Given the description of an element on the screen output the (x, y) to click on. 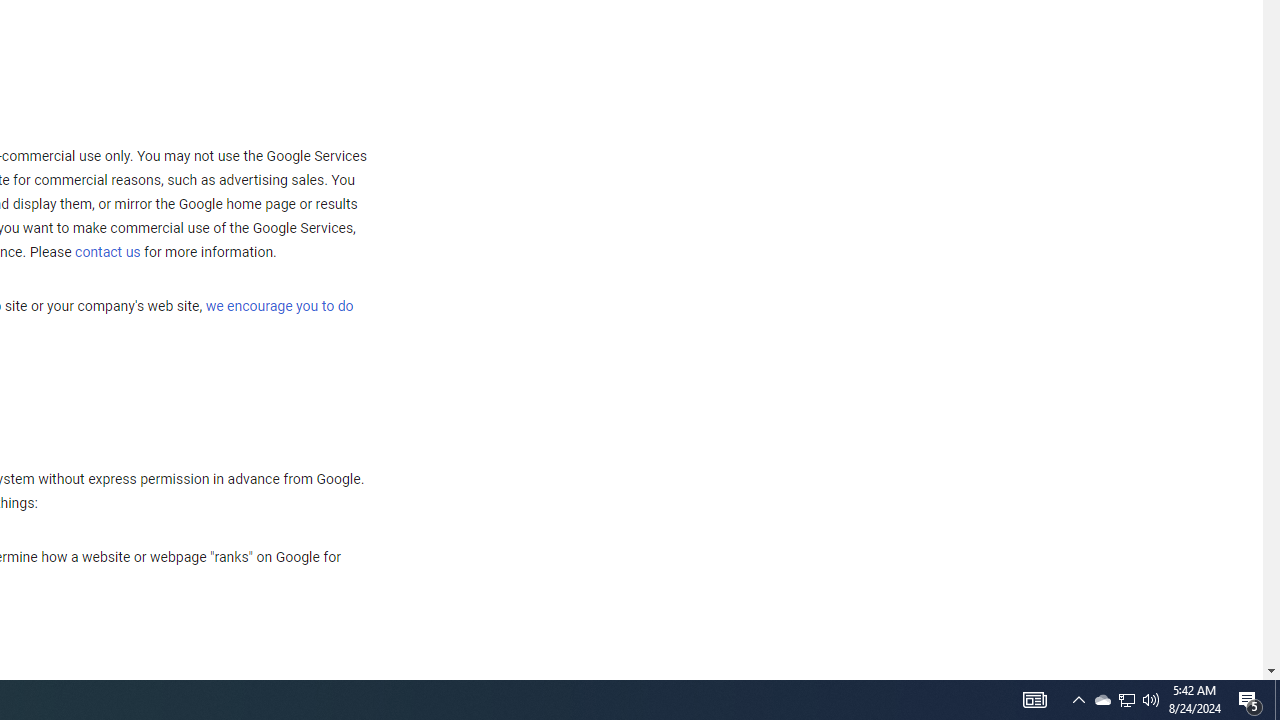
contact us (107, 251)
